Given the description of an element on the screen output the (x, y) to click on. 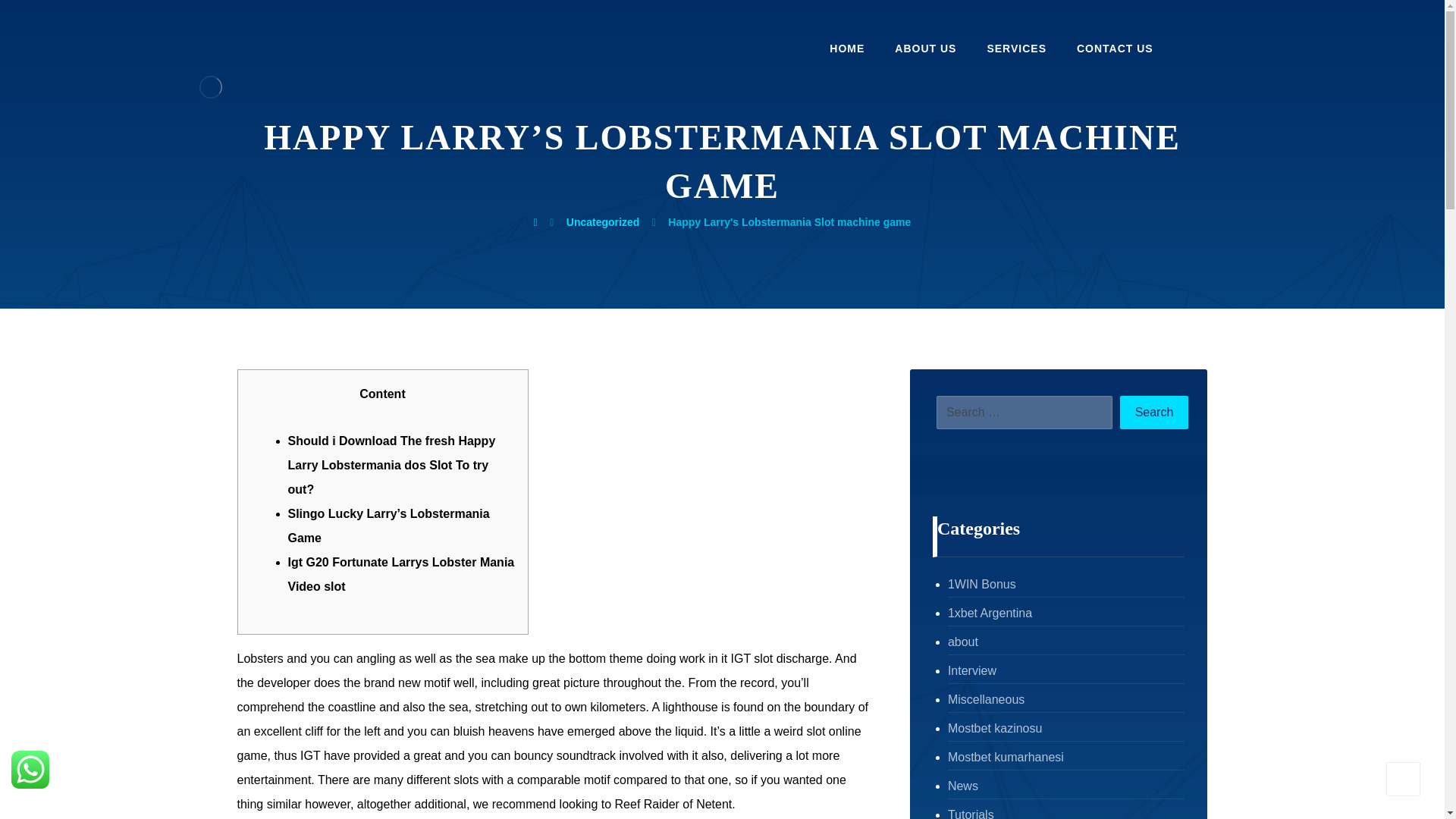
HOME (846, 53)
Uncategorized (602, 222)
Search (1154, 412)
SERVICES (1016, 53)
ABOUT US (925, 53)
Search (1154, 412)
Happy Larry's Lobstermania Slot machine game (789, 222)
Igt G20 Fortunate Larrys Lobster Mania Video slot (401, 574)
Experience Digital and Beyond (210, 87)
